Given the description of an element on the screen output the (x, y) to click on. 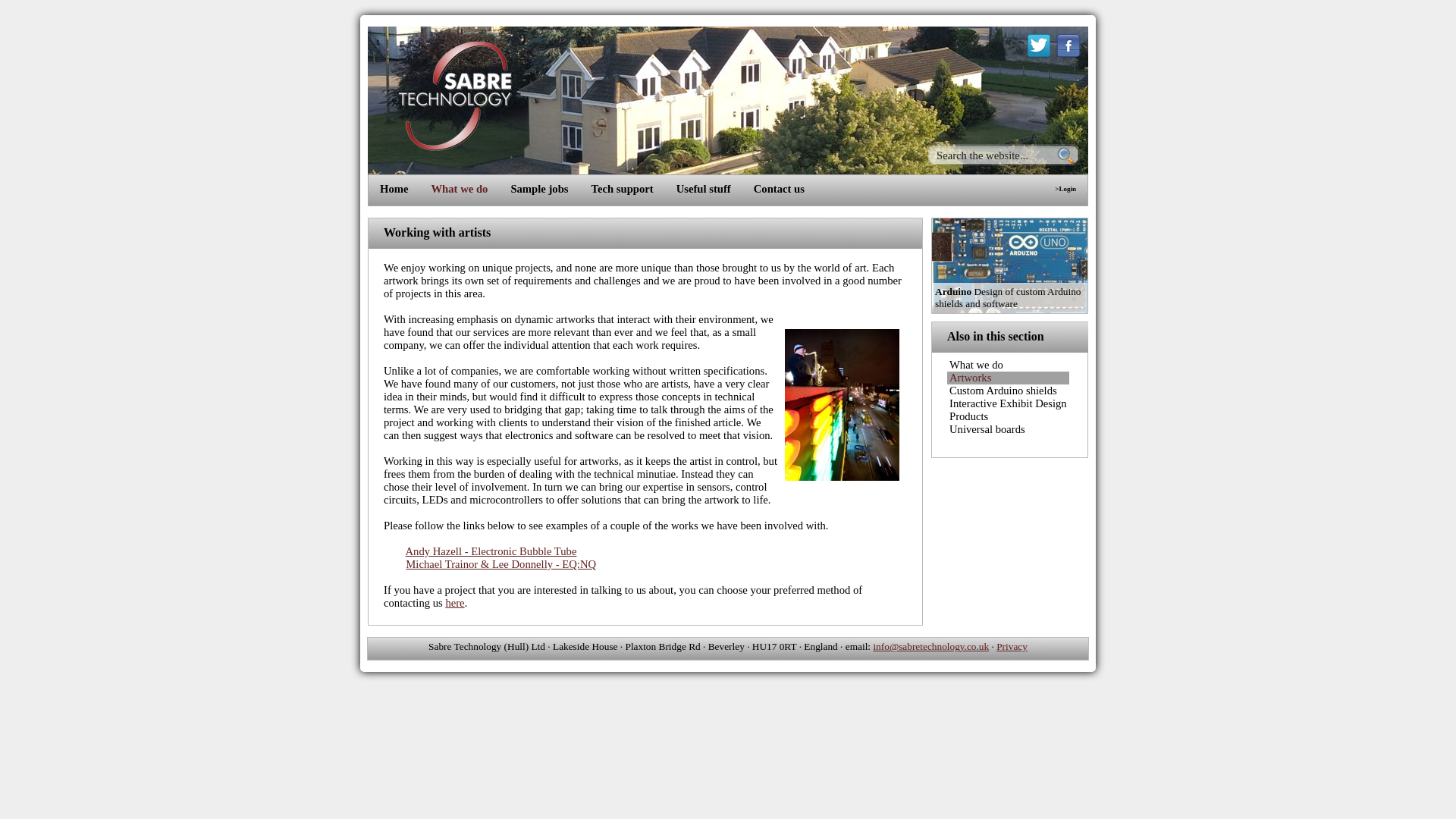
Search (1067, 153)
our home page (397, 189)
the services we offer (462, 189)
Custom Arduino shields (1007, 390)
What we do (462, 189)
Useful stuff (706, 189)
Search the website...  (995, 155)
technical support information (625, 189)
Arduino Design of custom Arduino shields and software (1009, 309)
Contact us (782, 189)
